Given the description of an element on the screen output the (x, y) to click on. 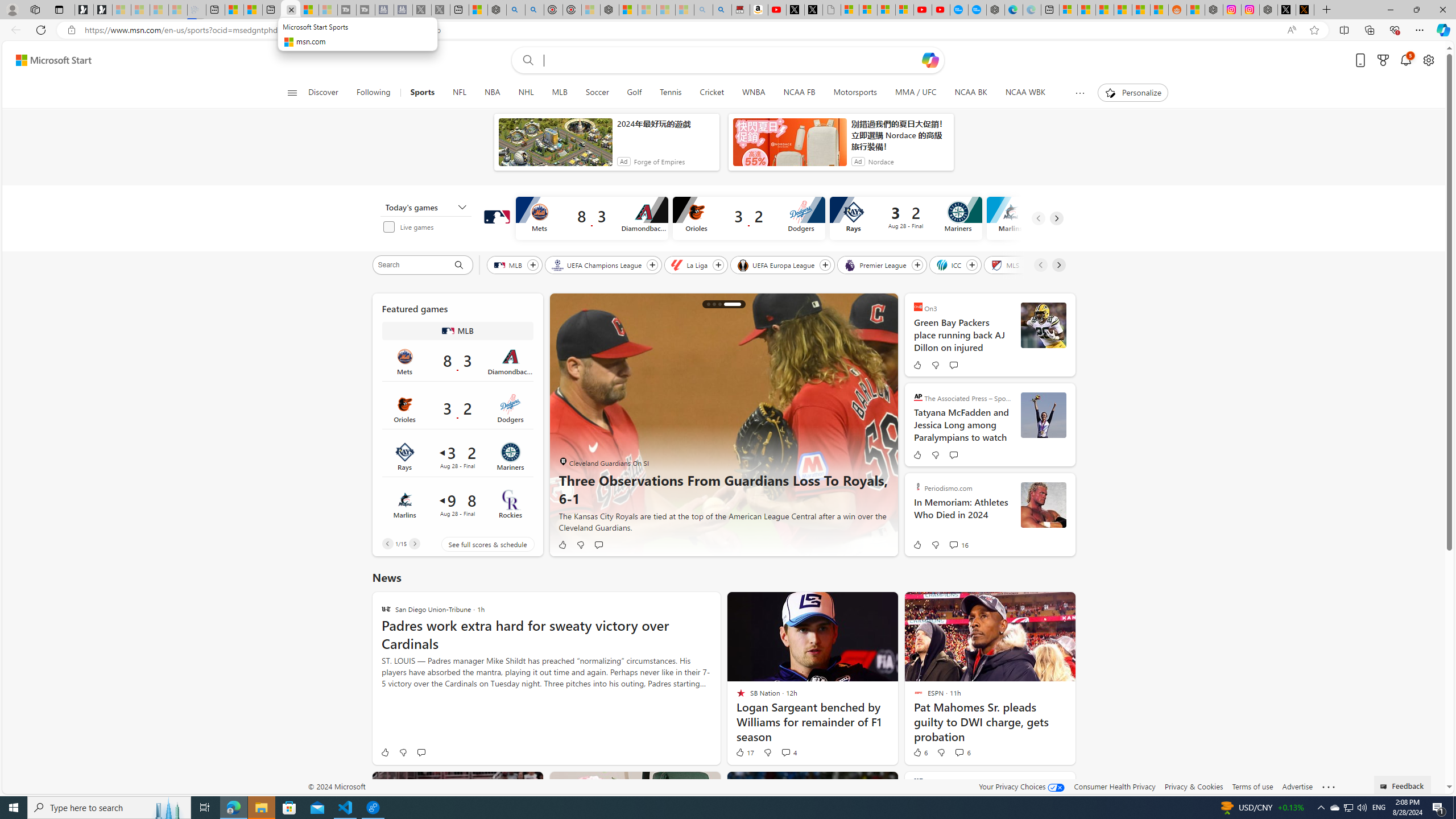
View comments 16 Comment (953, 544)
Enter your search term (730, 59)
17 Like (744, 752)
Golf (633, 92)
Cricket (711, 92)
NFL (460, 92)
Cleveland Guardians On SI (563, 461)
Motorsports (855, 92)
See full scores & schedule (478, 544)
